Given the description of an element on the screen output the (x, y) to click on. 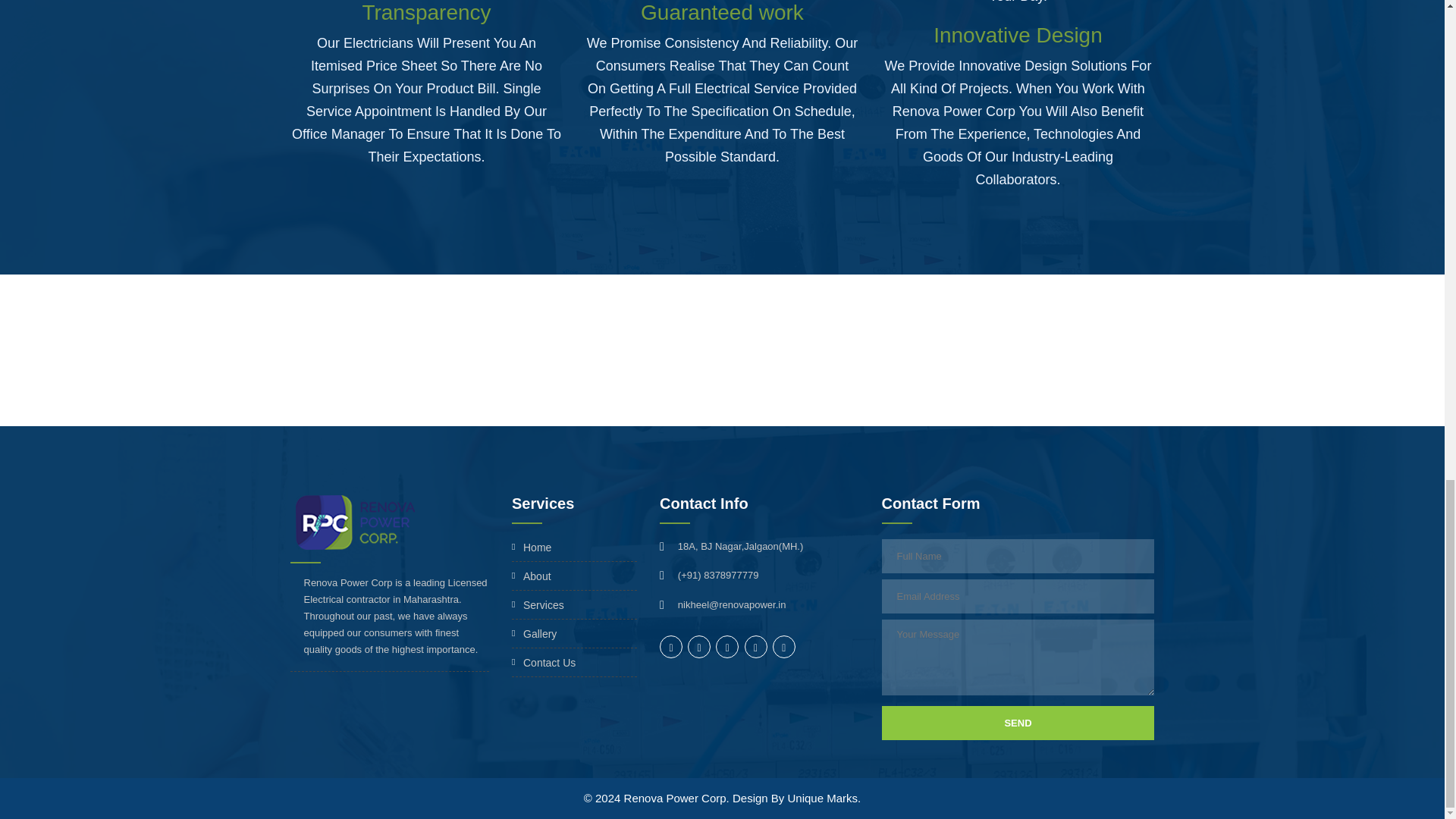
Contact Us (574, 665)
Services (574, 608)
Gallery (574, 636)
About (574, 578)
Home (574, 549)
SEND (1017, 722)
